Given the description of an element on the screen output the (x, y) to click on. 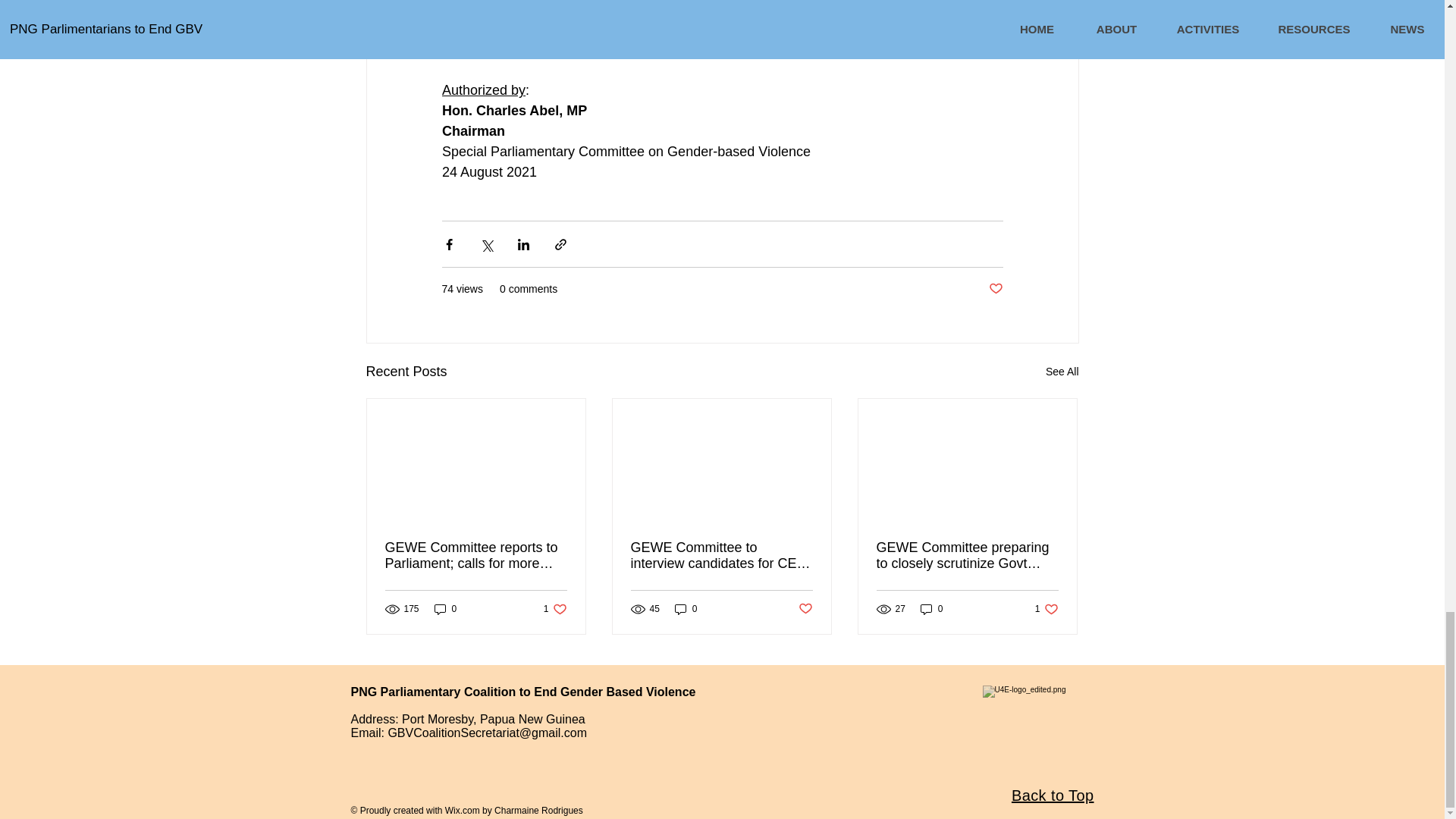
0 (445, 608)
See All (1046, 608)
Post not marked as liked (1061, 372)
Post not marked as liked (995, 289)
0 (804, 609)
0 (555, 608)
